Given the description of an element on the screen output the (x, y) to click on. 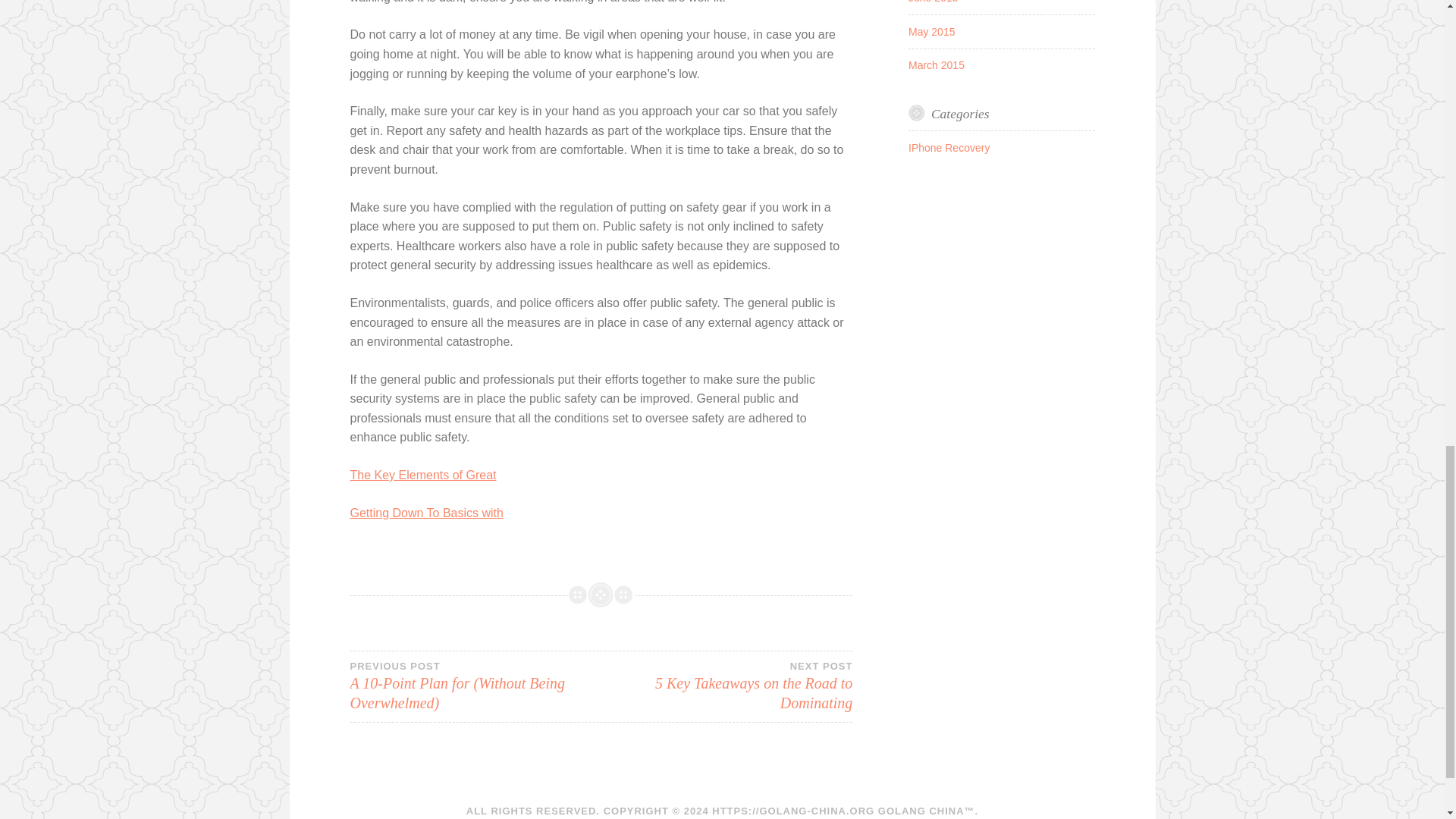
IPhone Recovery (949, 147)
June 2015 (933, 2)
March 2015 (935, 64)
May 2015 (931, 31)
The Key Elements of Great (423, 474)
Getting Down To Basics with (726, 685)
